Given the description of an element on the screen output the (x, y) to click on. 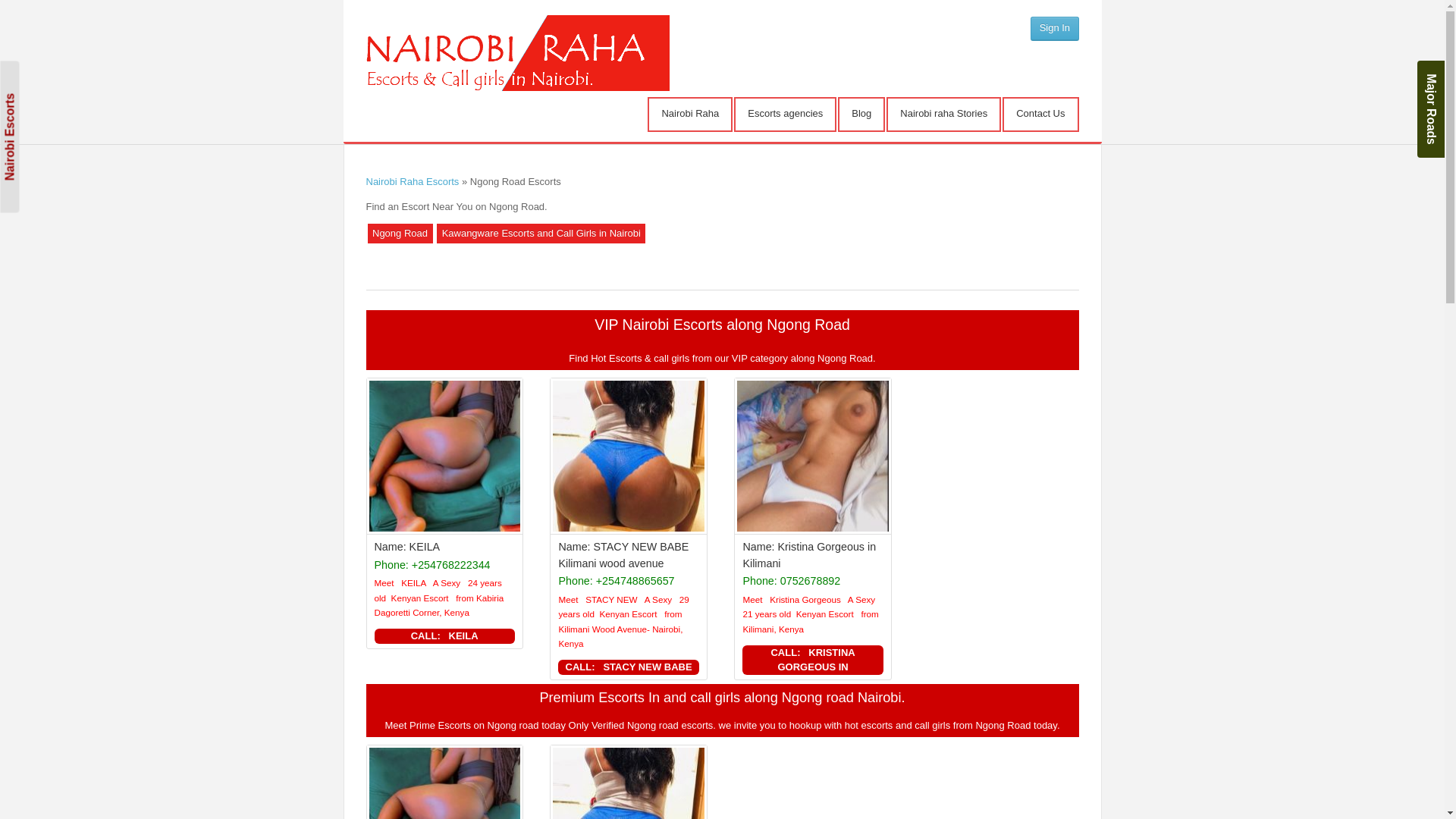
CALL:   KRISTINA GORGEOUS IN (812, 659)
KEILA (425, 546)
Nairobi raha Stories (943, 114)
Escorts agencies (785, 114)
Kawangware Escorts and Call Girls in Nairobi (541, 233)
Ngong Road (400, 233)
Nairobi Raha (689, 114)
Email (1021, 23)
Nairobi Raha Escorts (411, 181)
Password (1021, 56)
